Given the description of an element on the screen output the (x, y) to click on. 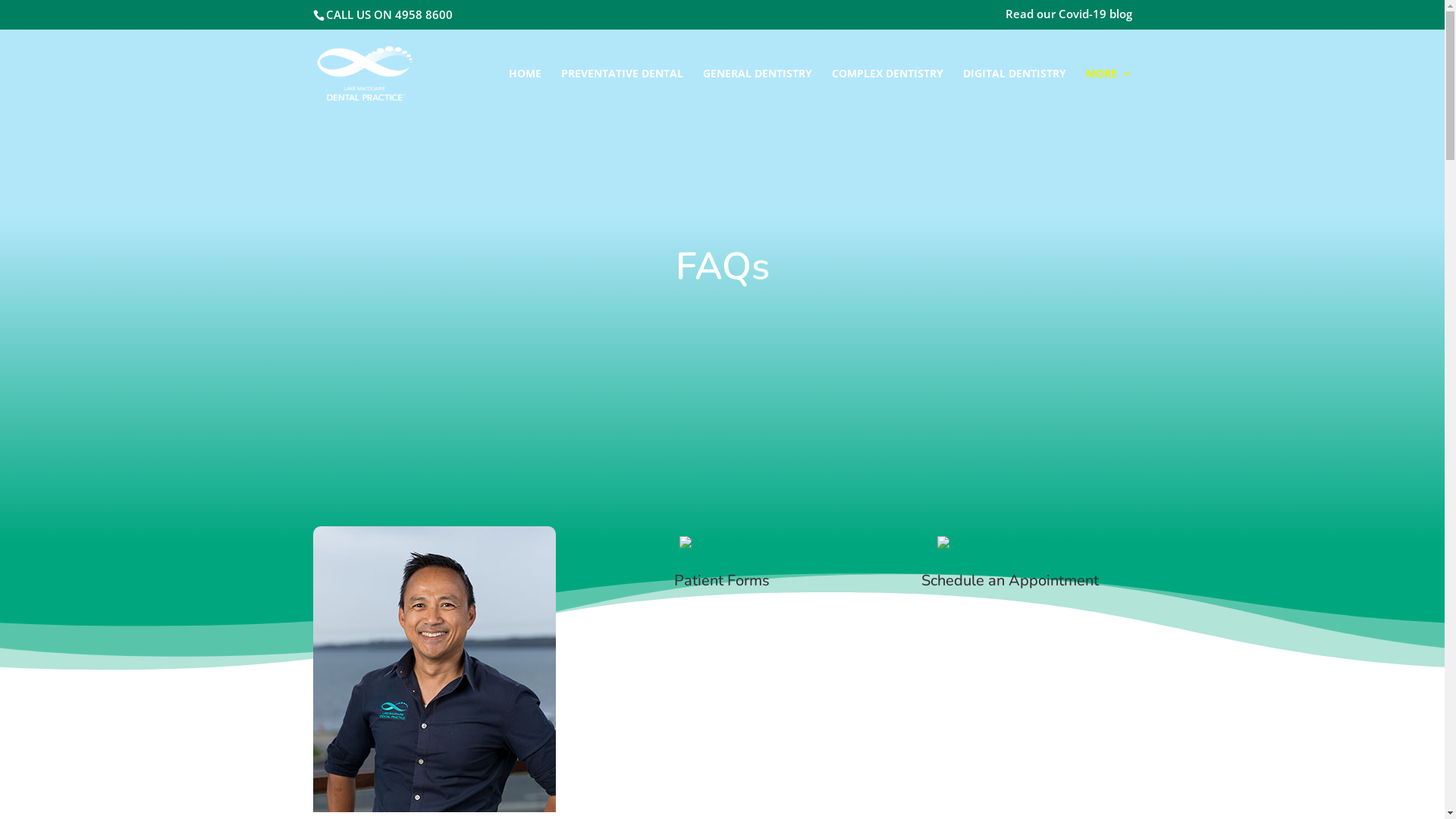
PREVENTATIVE DENTAL Element type: text (622, 96)
GENERAL DENTISTRY Element type: text (756, 96)
Patient Forms Element type: text (721, 580)
COMPLEX DENTISTRY Element type: text (886, 96)
Read our Covid-19 blog Element type: text (1068, 18)
Schedule an Appointment Element type: text (1009, 580)
MORE Element type: text (1108, 96)
DIGITAL DENTISTRY Element type: text (1014, 96)
HOME Element type: text (524, 96)
4958 8600 Element type: text (422, 13)
